Given the description of an element on the screen output the (x, y) to click on. 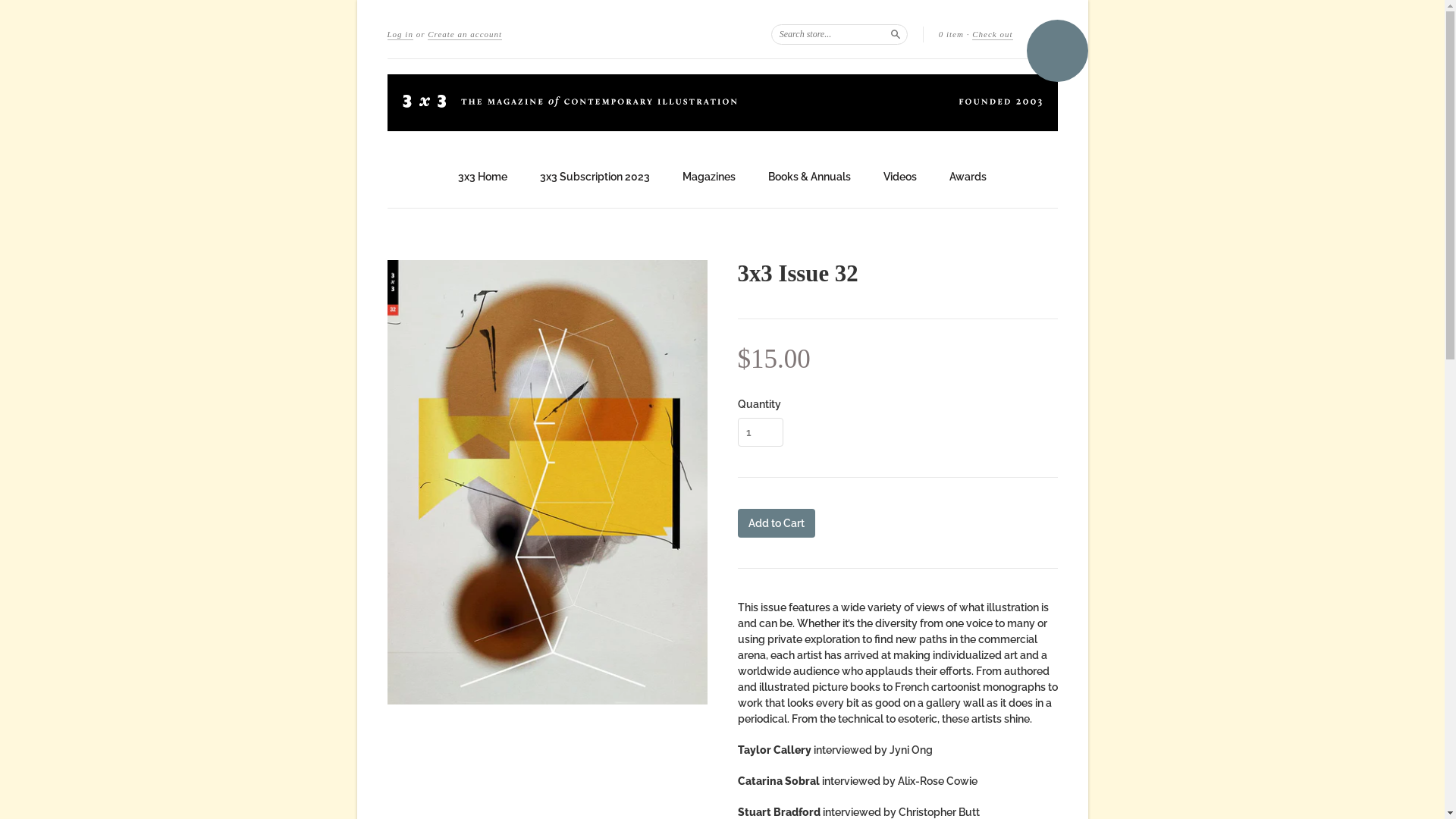
Awards Element type: text (967, 177)
Videos Element type: text (899, 177)
Add to Cart Element type: text (775, 522)
Books & Annuals Element type: text (809, 177)
Check out Element type: text (992, 34)
0 item Element type: text (950, 34)
Magazines Element type: text (708, 177)
3x3 Home Element type: text (482, 177)
Log in Element type: text (399, 34)
3x3 Subscription 2023 Element type: text (594, 177)
Search Element type: text (895, 33)
Create an account Element type: text (464, 34)
